Given the description of an element on the screen output the (x, y) to click on. 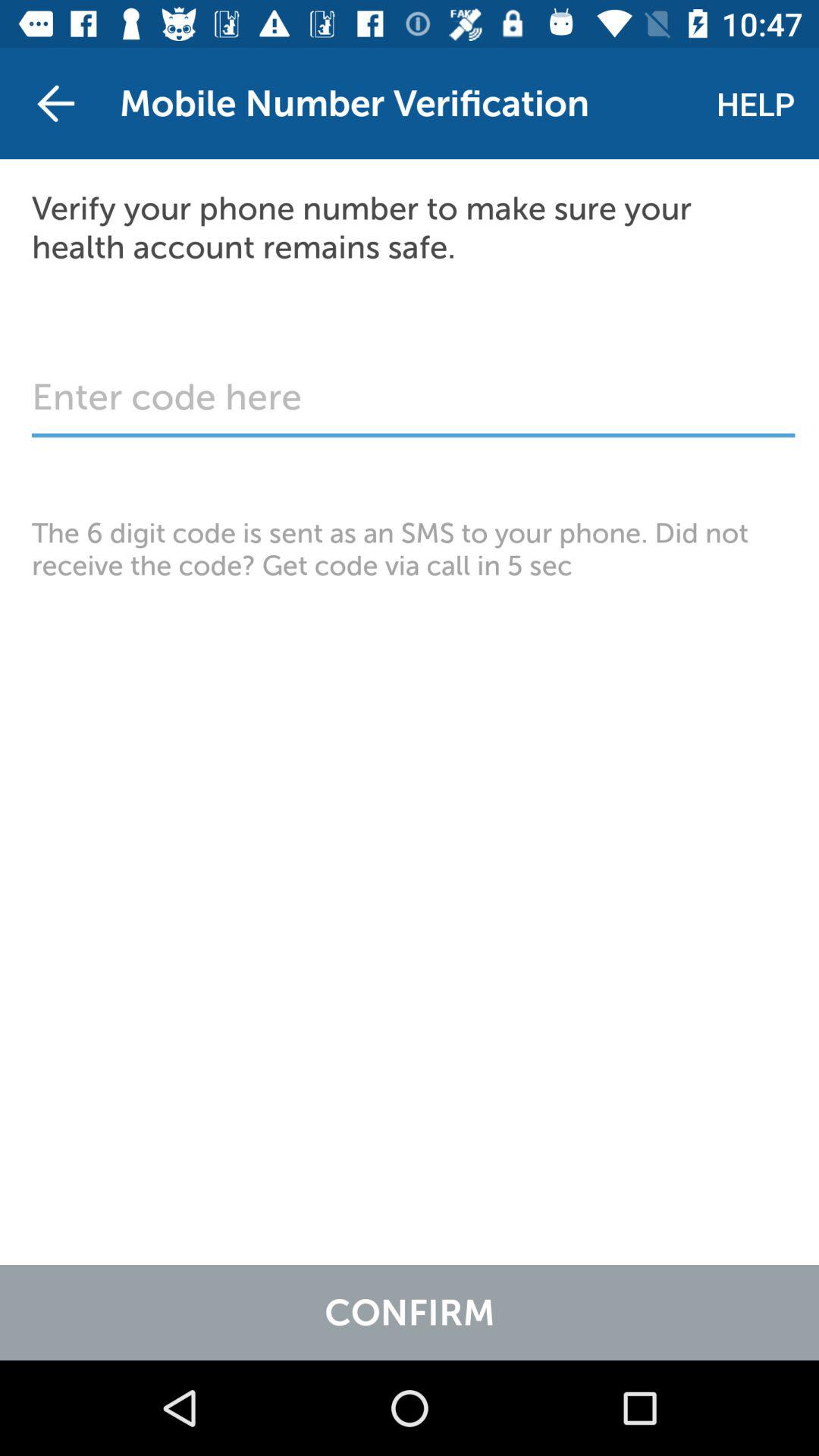
tap the item above the 6 digit (413, 404)
